Given the description of an element on the screen output the (x, y) to click on. 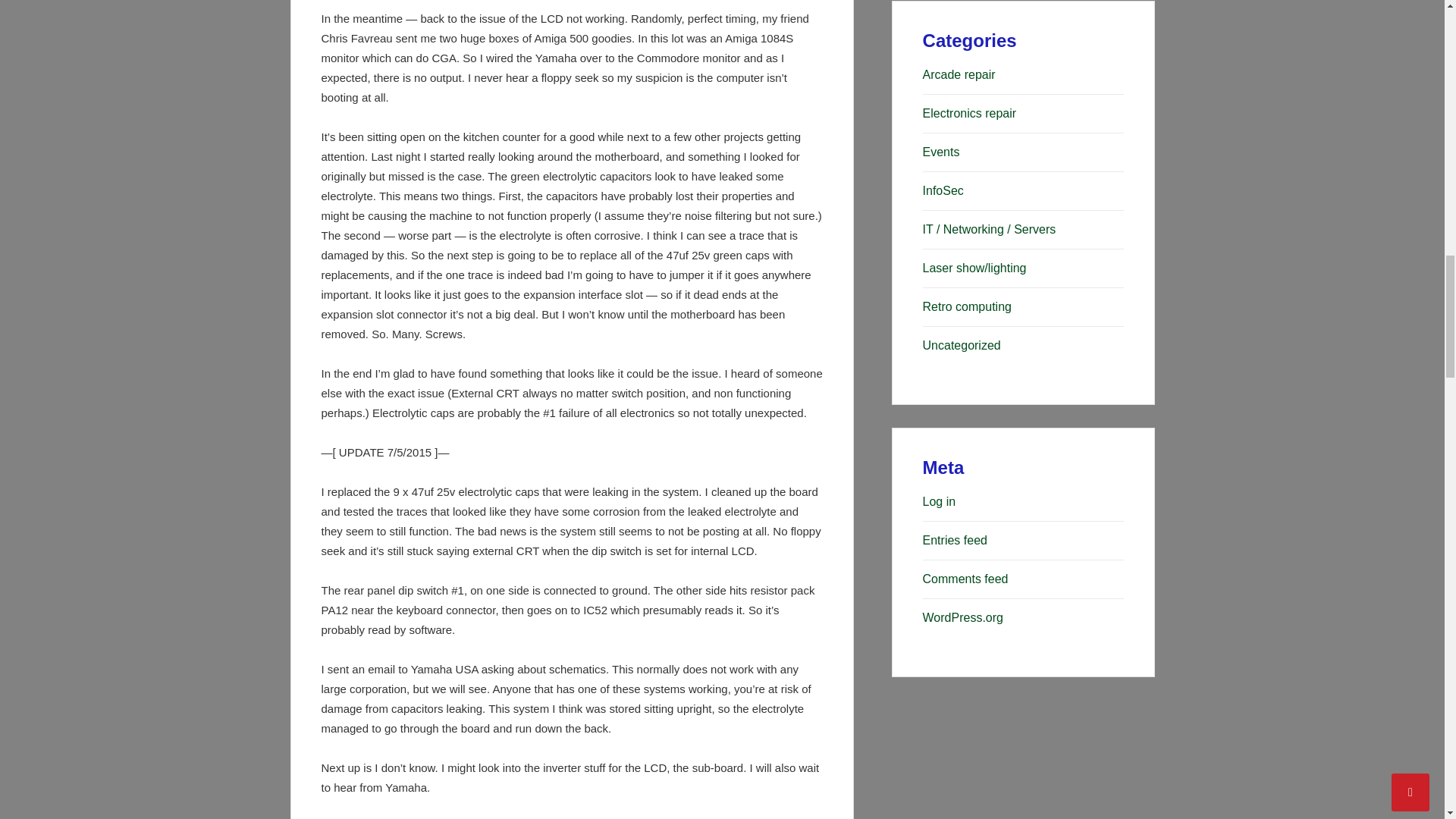
Electronics repair related postings (969, 113)
All things laser and light show related (974, 267)
Events (941, 151)
All things old school computing (967, 306)
